Given the description of an element on the screen output the (x, y) to click on. 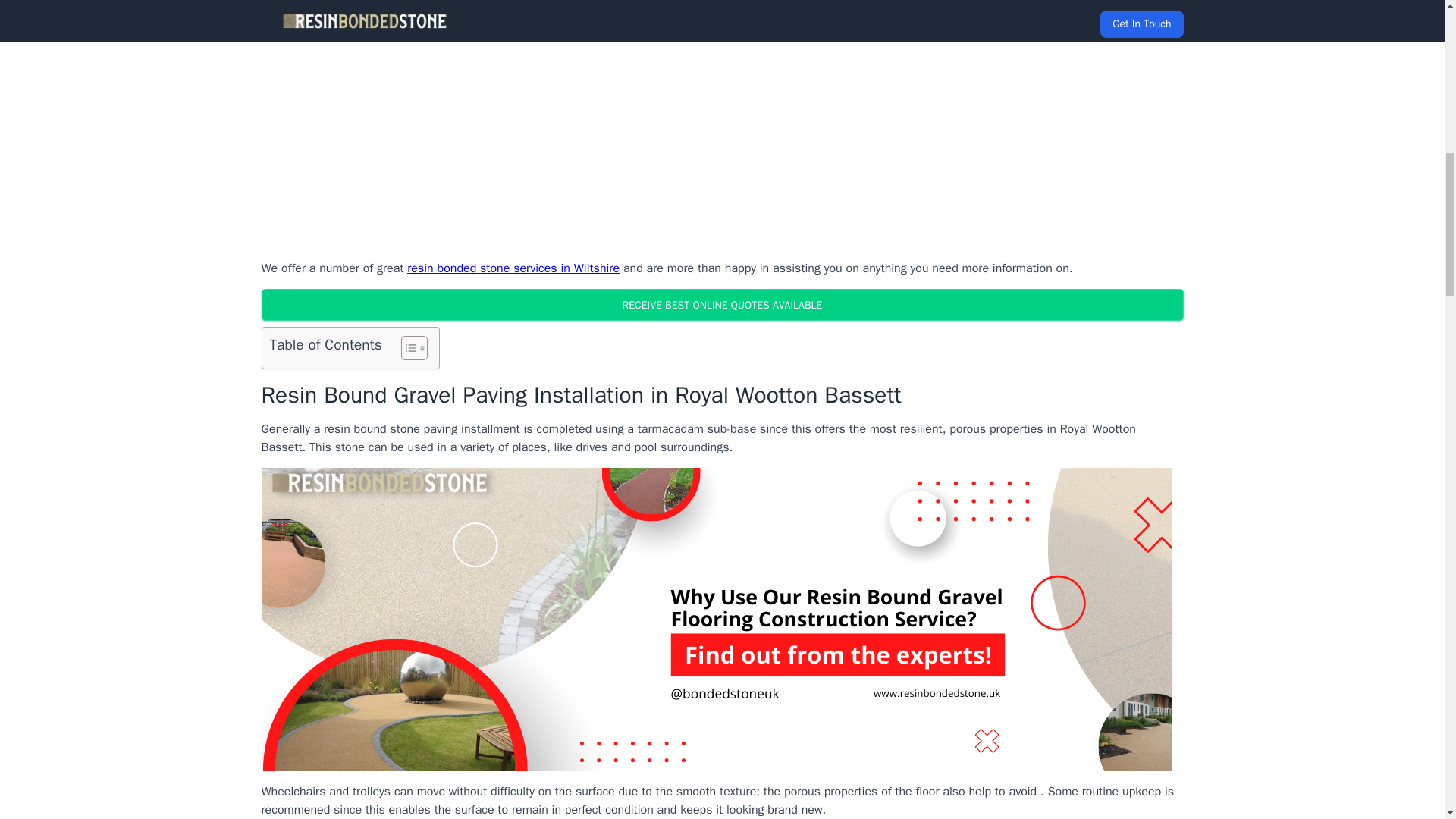
resin bonded stone services in Wiltshire (513, 268)
RECEIVE BEST ONLINE QUOTES AVAILABLE (721, 305)
